Given the description of an element on the screen output the (x, y) to click on. 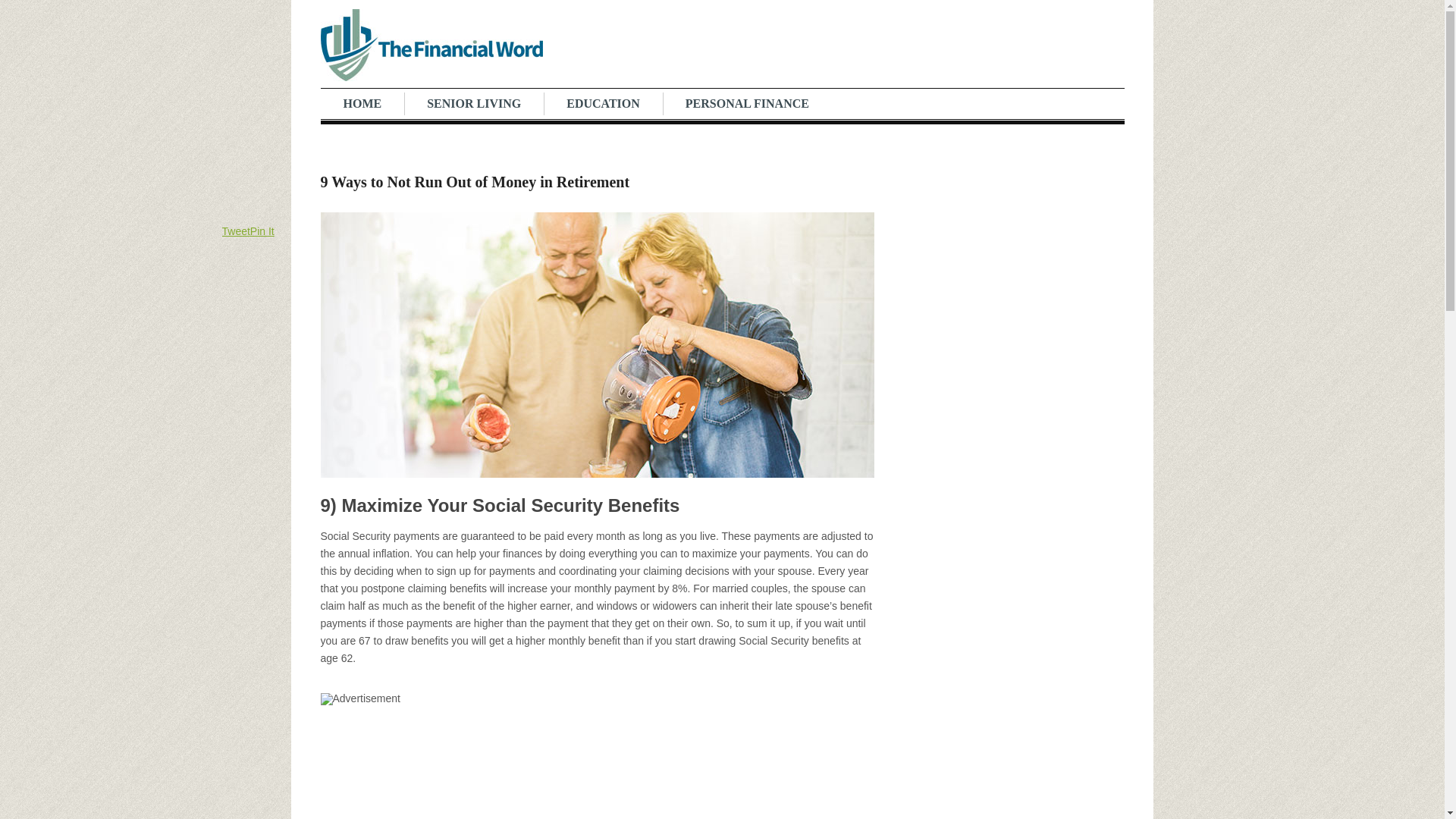
SENIOR LIVING (473, 103)
Advertisement (596, 769)
PERSONAL FINANCE (746, 103)
HOME (362, 103)
Pin It (262, 231)
EDUCATION (602, 103)
Tweet (234, 231)
